Given the description of an element on the screen output the (x, y) to click on. 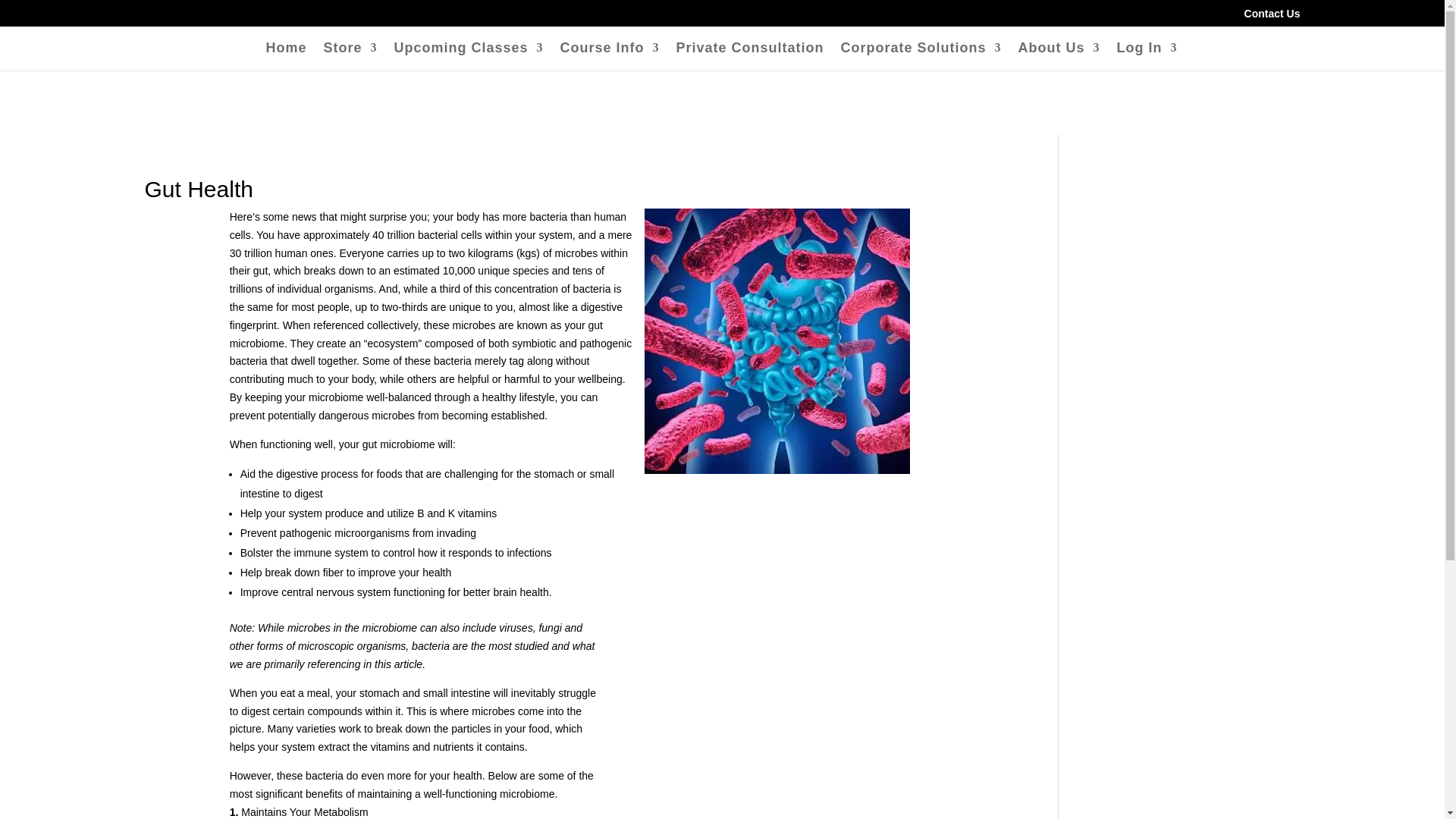
Home (284, 56)
Upcoming Classes (468, 56)
Contact Us (1272, 16)
Private Consultation (750, 56)
Corporate Solutions (921, 56)
Course Info (609, 56)
Log In (1146, 56)
Store (350, 56)
About Us (1058, 56)
